Given the description of an element on the screen output the (x, y) to click on. 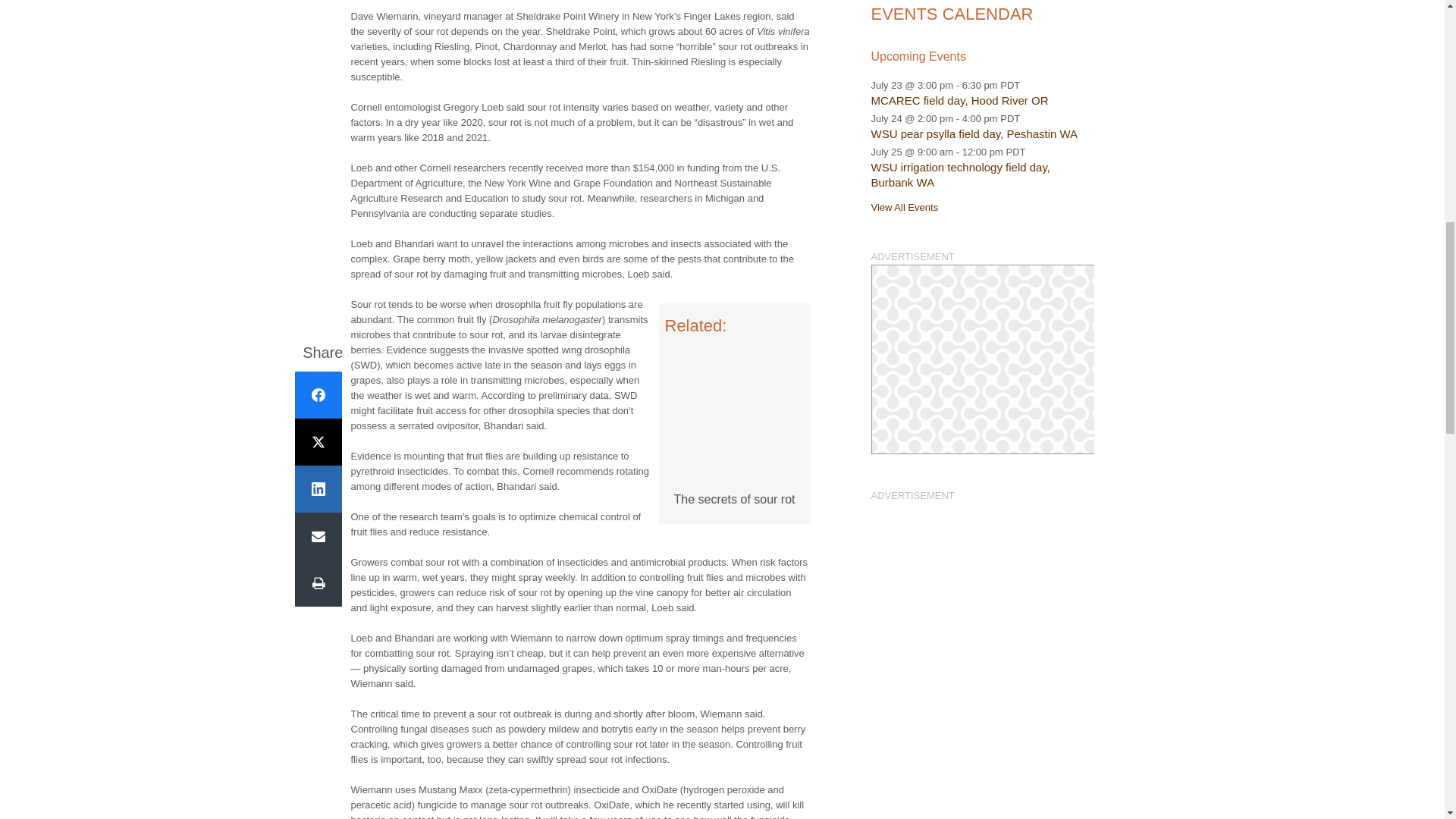
3rd party ad content (981, 359)
